Given the description of an element on the screen output the (x, y) to click on. 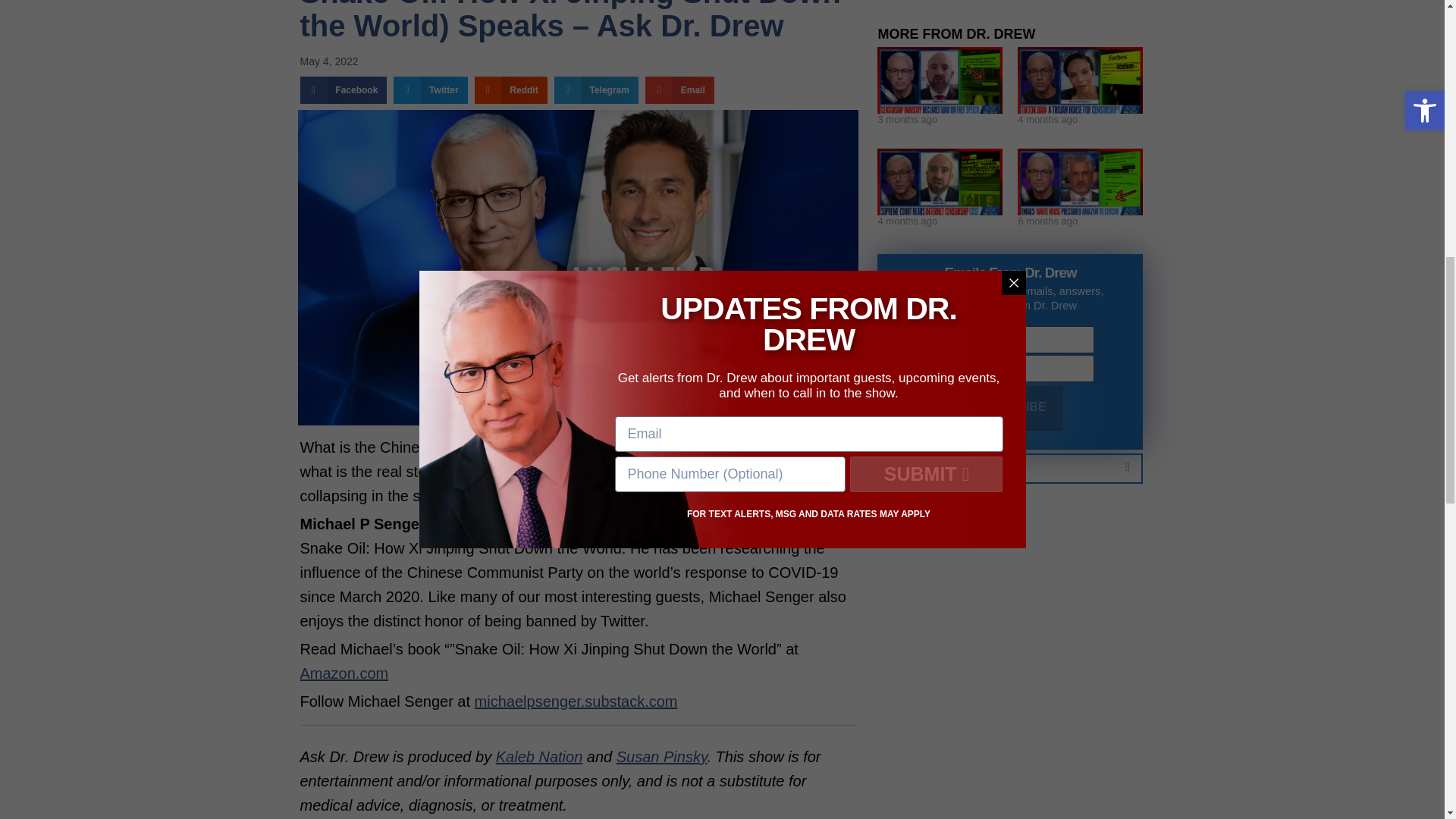
Subscribe (1009, 407)
